Given the description of an element on the screen output the (x, y) to click on. 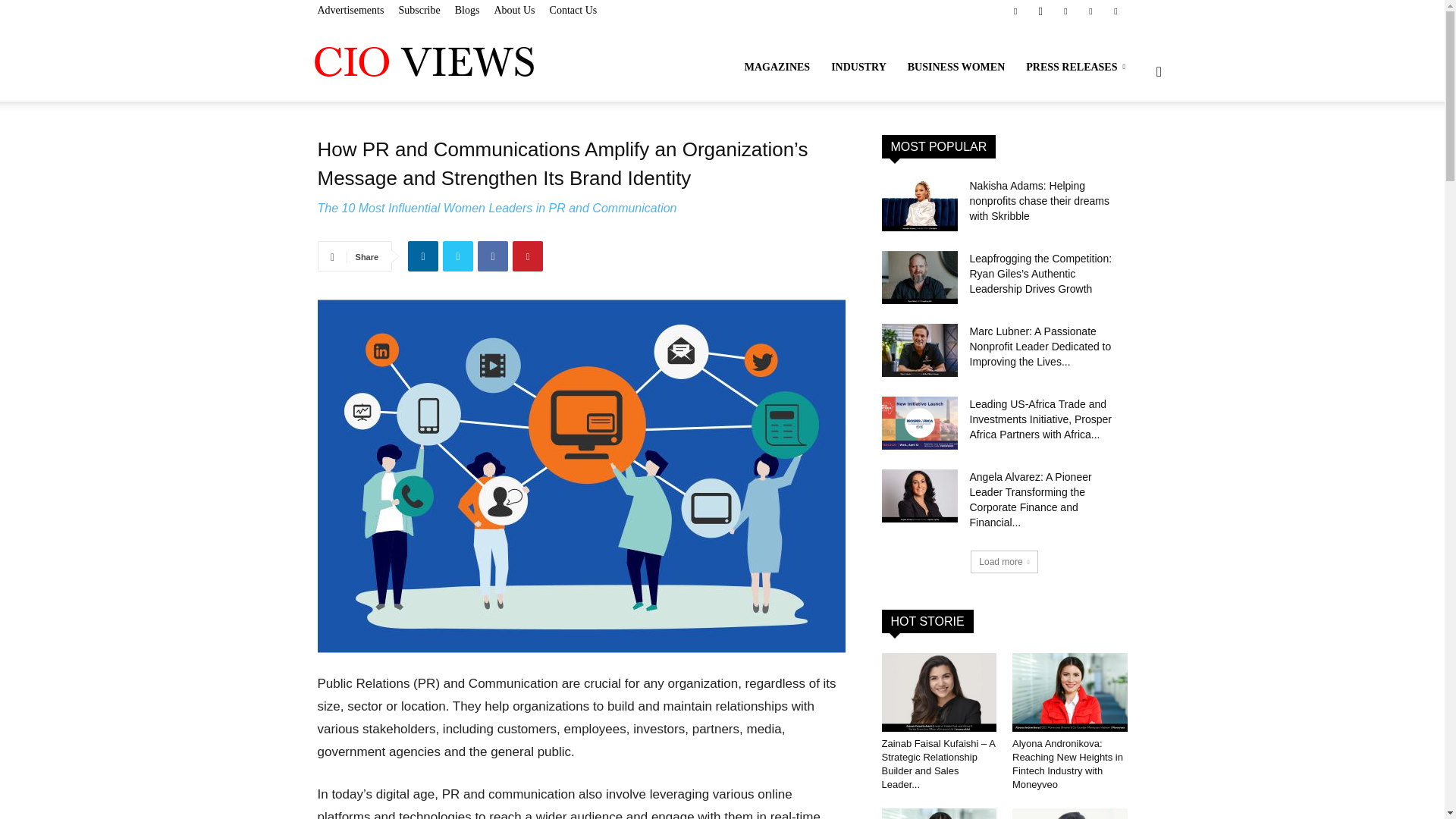
INDUSTRY (858, 66)
Search (1134, 143)
Advertisements (350, 9)
About Us (513, 9)
Facebook (492, 255)
Twitter (1114, 10)
PRESS RELEASES (1077, 66)
CIO VIEWS (423, 61)
Linkedin (422, 255)
